Given the description of an element on the screen output the (x, y) to click on. 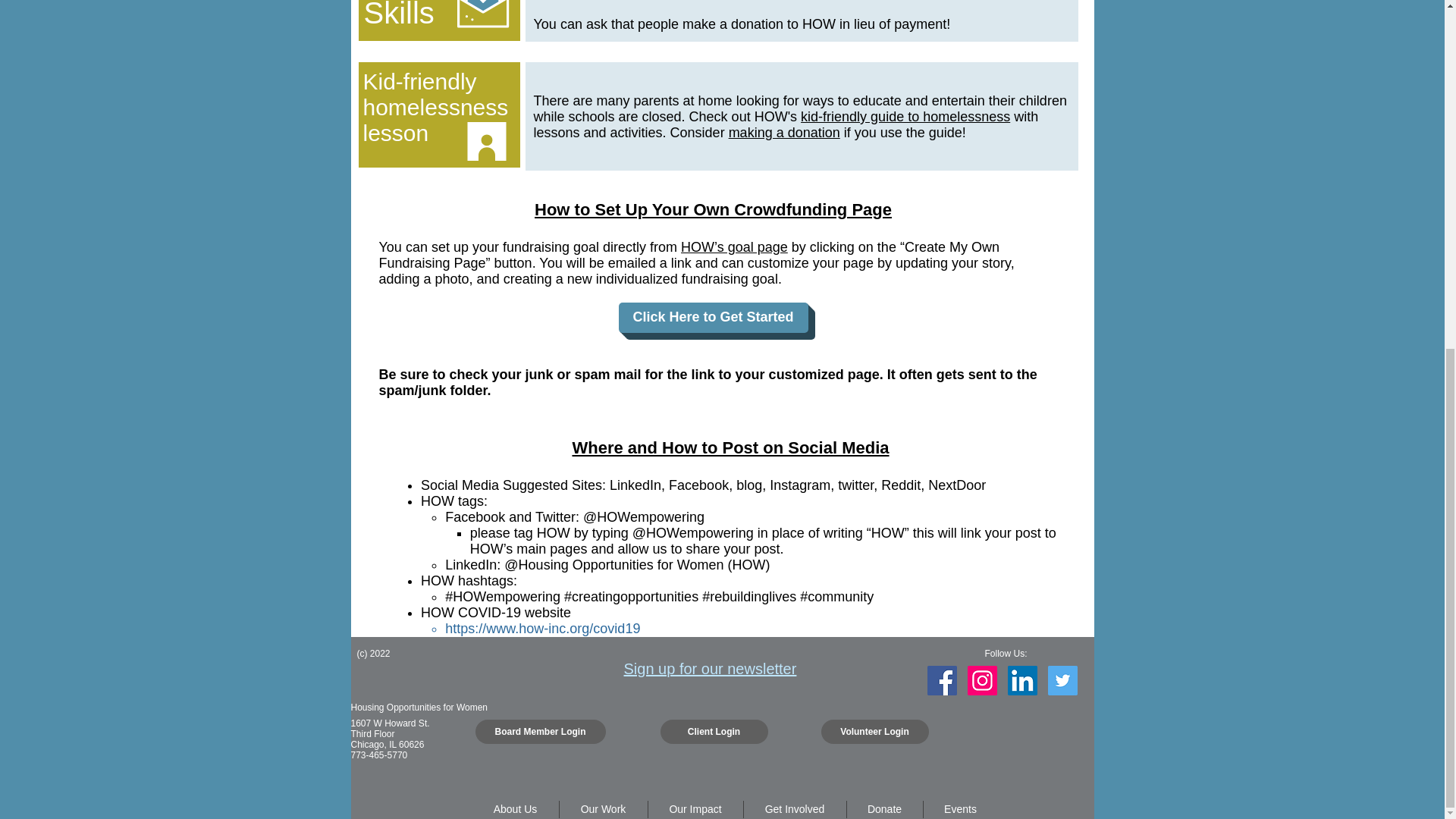
making a donation (784, 132)
kid-friendly guide to homelessness (905, 116)
Click Here to Get Started (713, 317)
Sign up for our newsletter (709, 668)
